Given the description of an element on the screen output the (x, y) to click on. 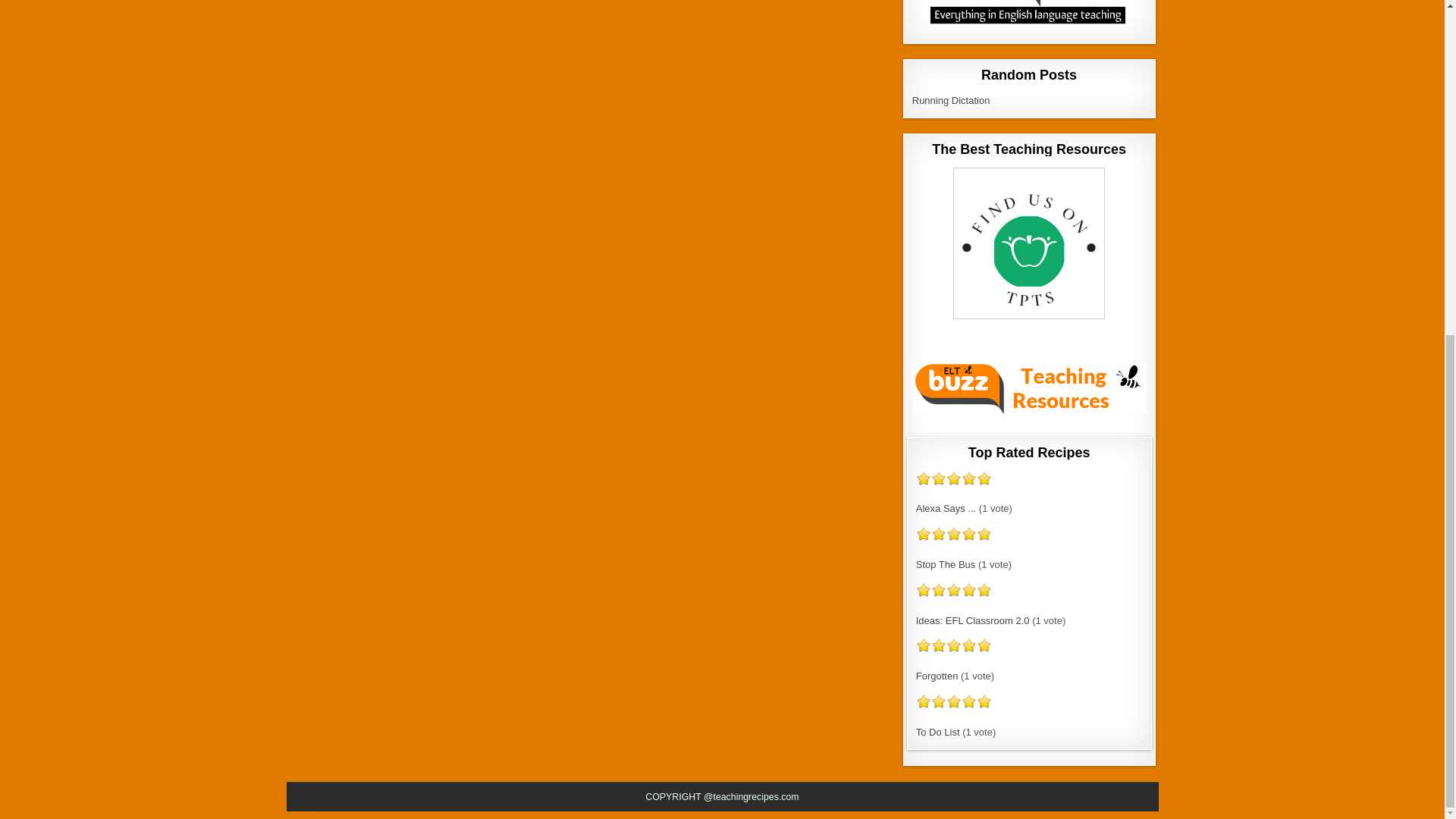
Stop The Bus (945, 564)
Forgotten (936, 675)
Running Dictation (951, 100)
To Do List (937, 731)
Ideas: EFL Classroom 2.0 (972, 620)
Alexa Says ... (945, 508)
